Given the description of an element on the screen output the (x, y) to click on. 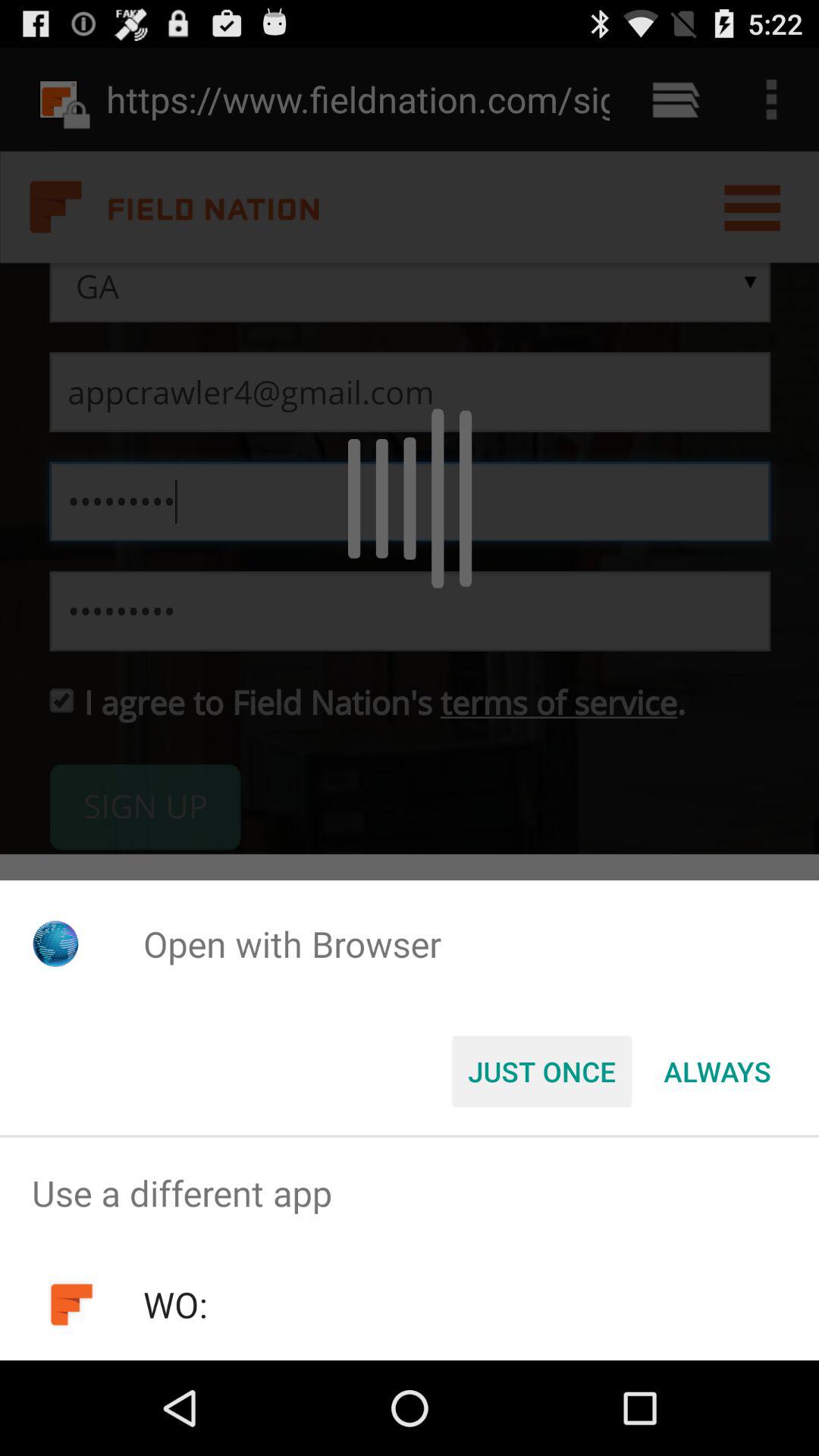
press item above the wo: icon (409, 1192)
